Given the description of an element on the screen output the (x, y) to click on. 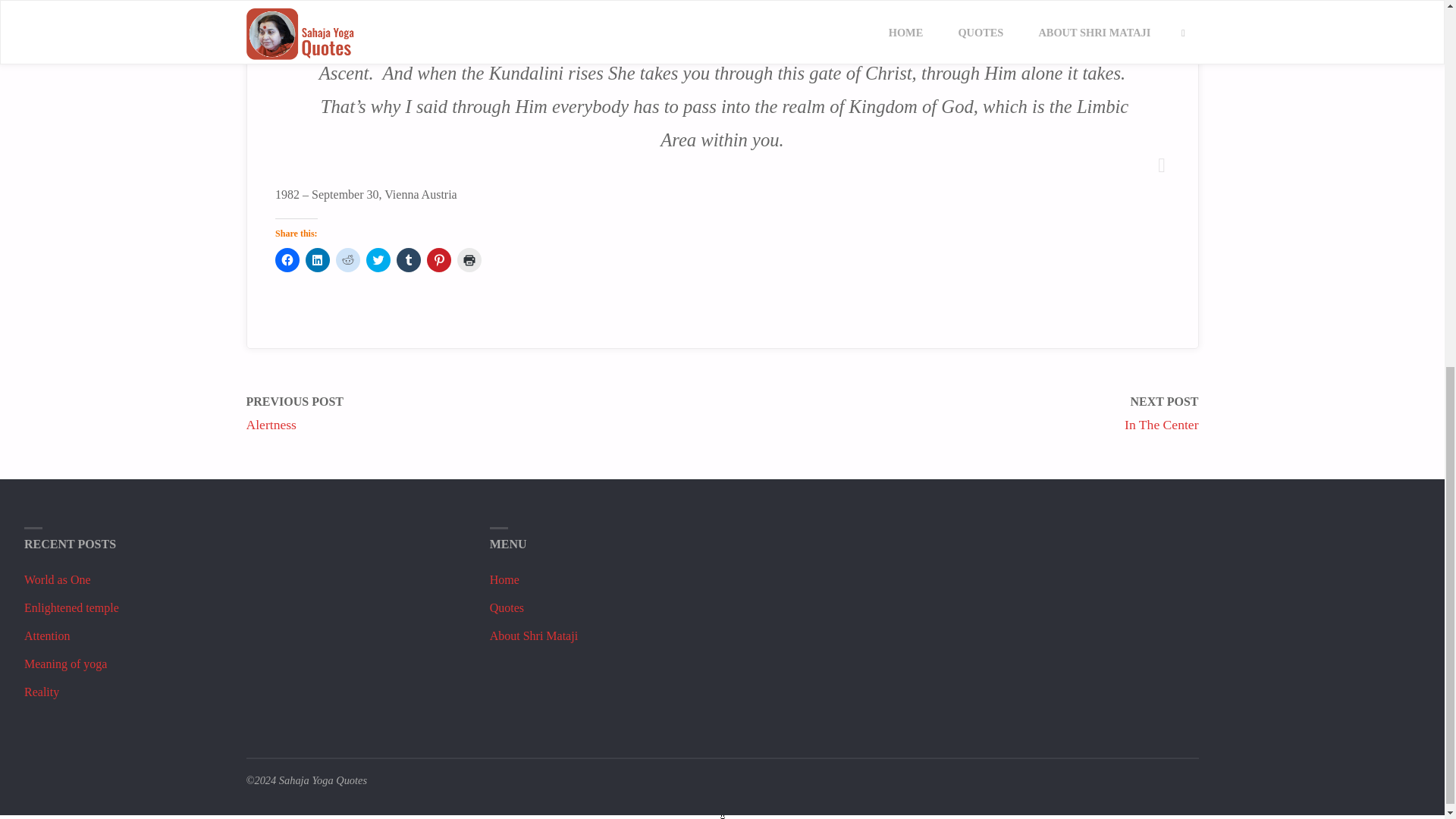
Click to share on Facebook (287, 259)
Alertness (270, 424)
Click to print (469, 259)
Quotes (506, 607)
Click to share on Tumblr (408, 259)
Attention (46, 635)
Reality (41, 691)
World as One (57, 579)
Meaning of yoga (65, 663)
About Shri Mataji (533, 635)
